Given the description of an element on the screen output the (x, y) to click on. 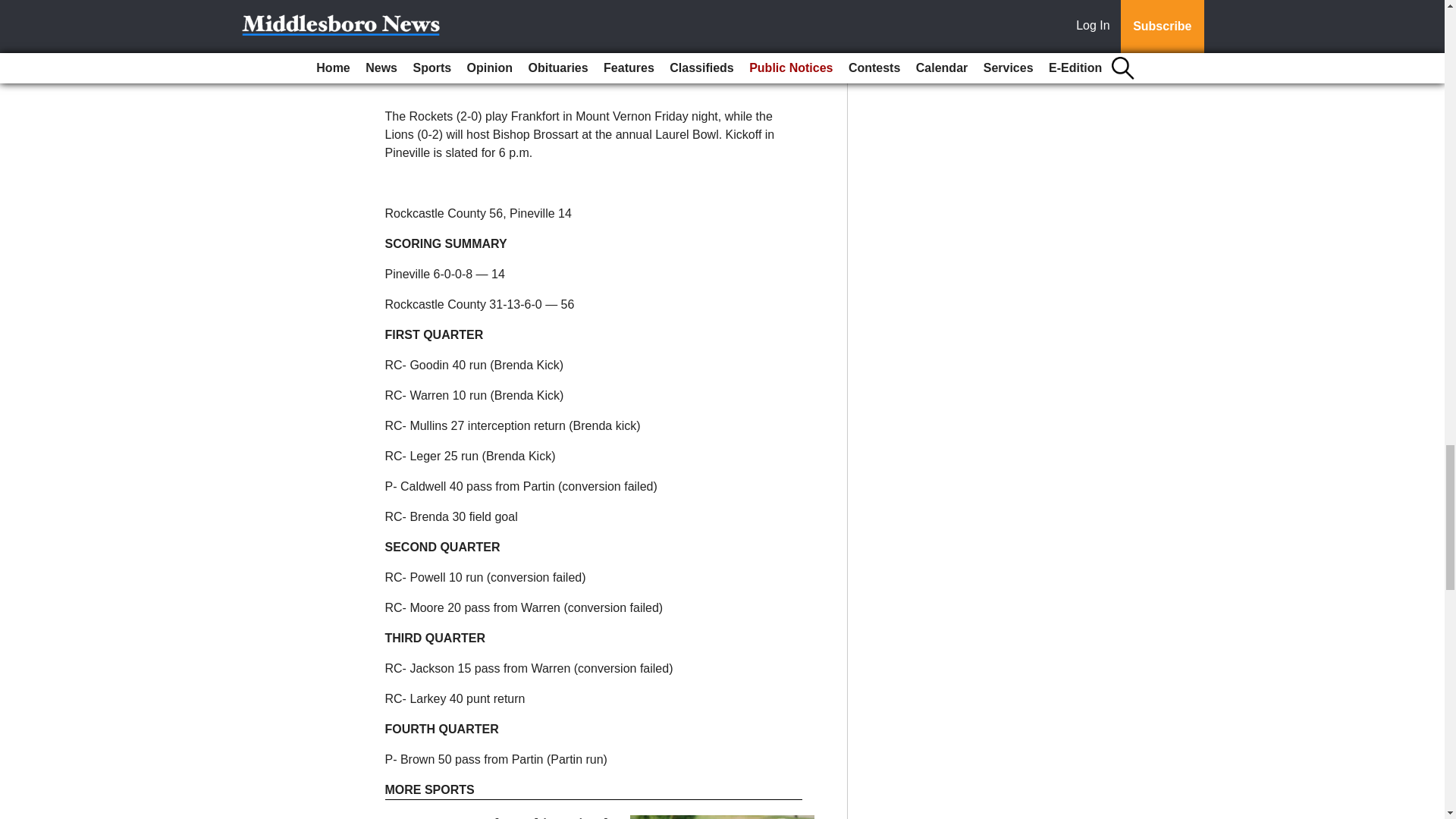
UK DC wants to keep things simple this season (499, 817)
UK DC wants to keep things simple this season (499, 817)
